Given the description of an element on the screen output the (x, y) to click on. 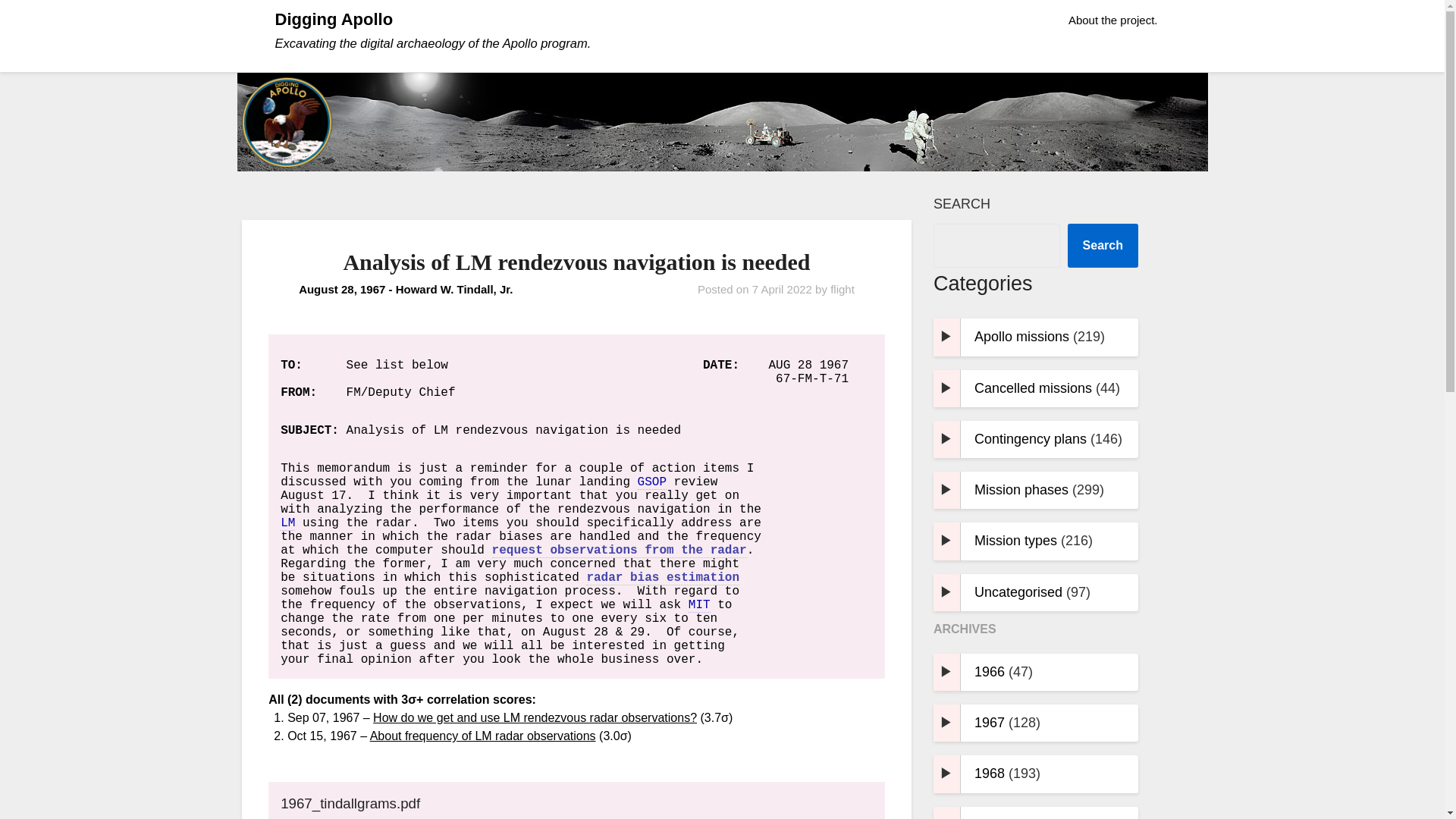
Massachusetts Institute of Technology (699, 605)
About the project. (1113, 20)
Contingency plans (1030, 438)
Guidance System Operations Plan (651, 482)
flight (841, 288)
About frequency of LM radar observations (619, 550)
LEM radar angle bias correction (662, 577)
Search (1102, 245)
How do we get and use LM rendezvous radar observations? (534, 717)
